Given the description of an element on the screen output the (x, y) to click on. 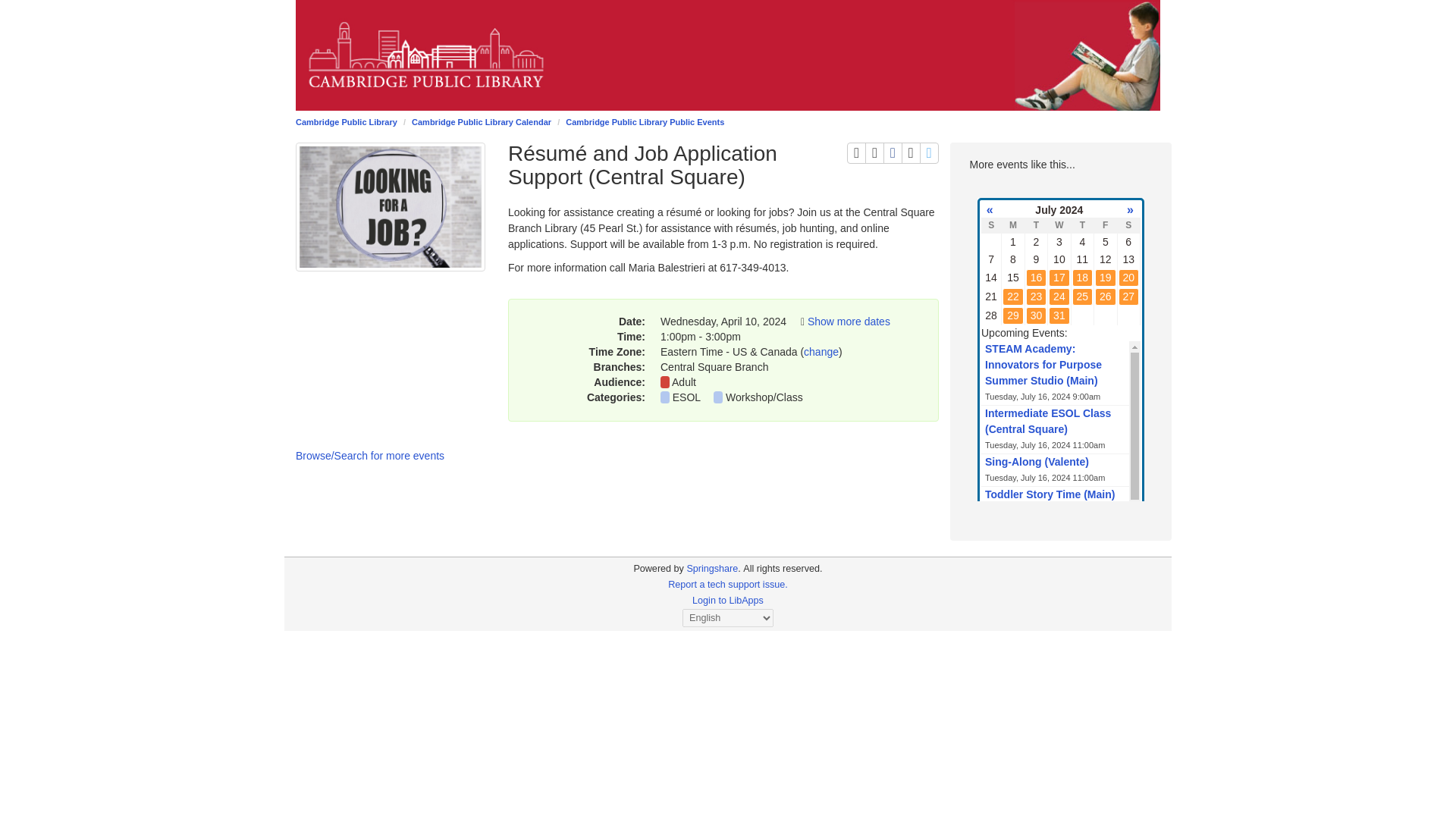
Cambridge Public Library Public Events (644, 121)
Print the page (856, 152)
libcal-us-1 (658, 568)
Springshare (929, 152)
Cambridge Public Library Calendar (711, 568)
Show more dates (481, 121)
change (848, 321)
Add to a Calendar using iCal (820, 351)
Login to LibApps (873, 152)
Report a tech support issue. (727, 600)
Adult (892, 152)
ESOL (727, 584)
Cambridge Public Library Cambridge Public Library Calendar (683, 381)
